Given the description of an element on the screen output the (x, y) to click on. 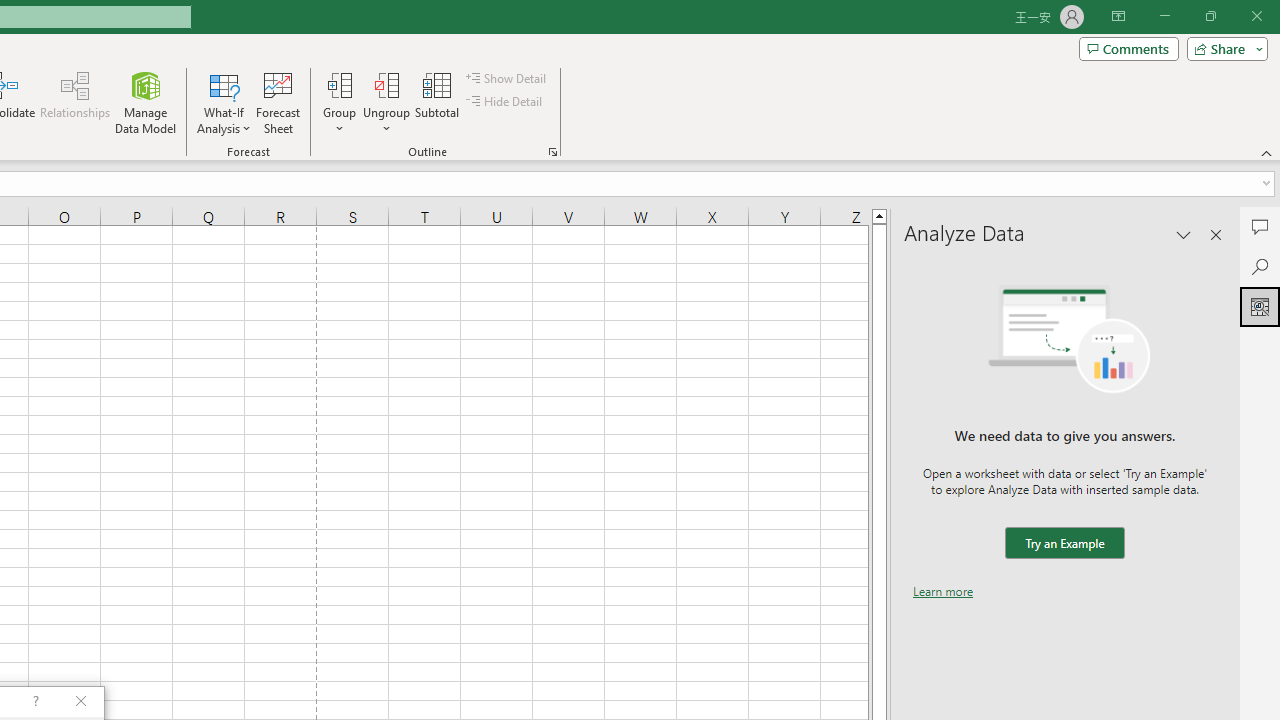
Show Detail (507, 78)
Relationships (75, 102)
Hide Detail (505, 101)
We need data to give you answers. Try an Example (1064, 543)
Manage Data Model (145, 102)
